Given the description of an element on the screen output the (x, y) to click on. 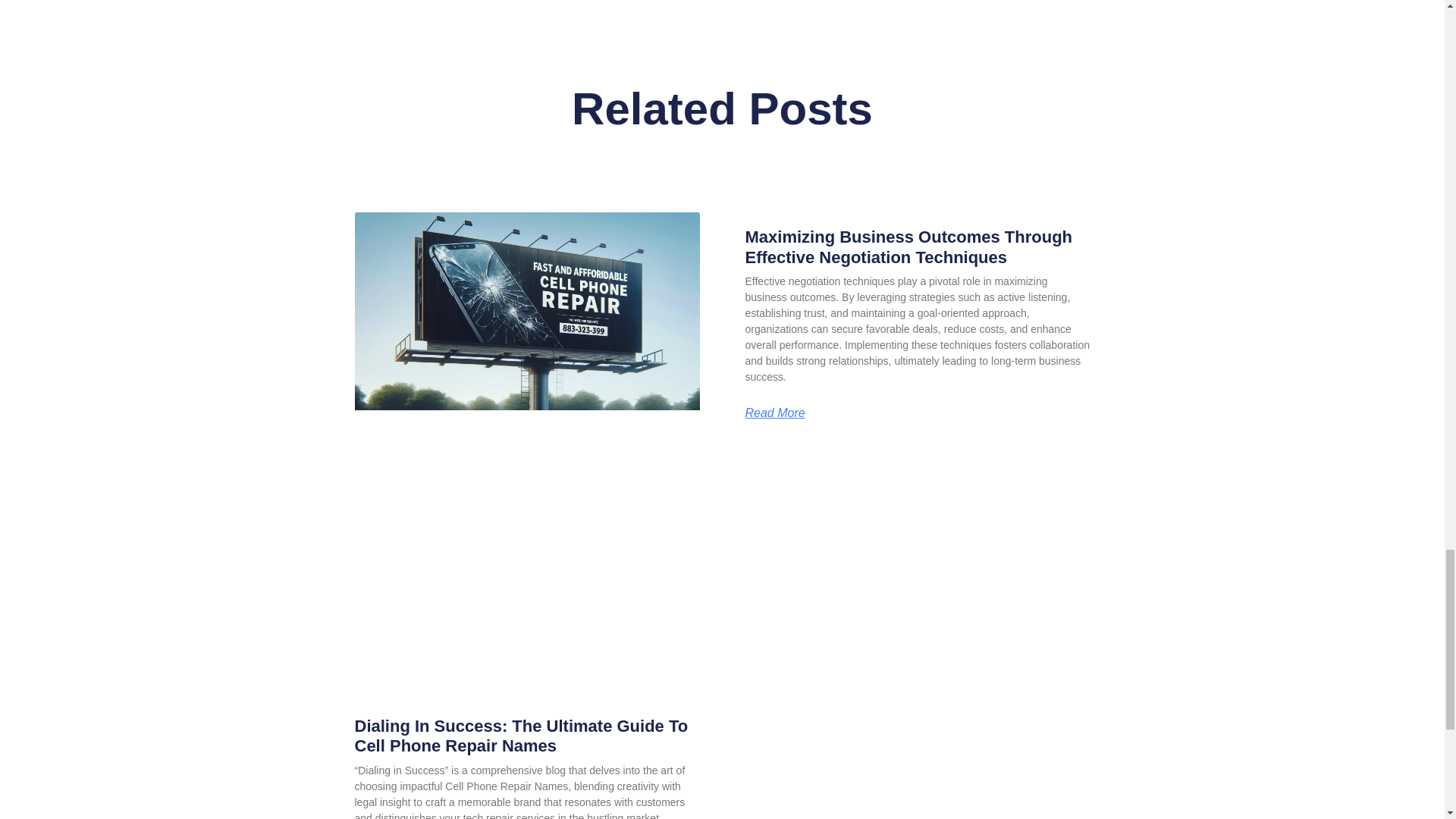
Read More (774, 413)
